Given the description of an element on the screen output the (x, y) to click on. 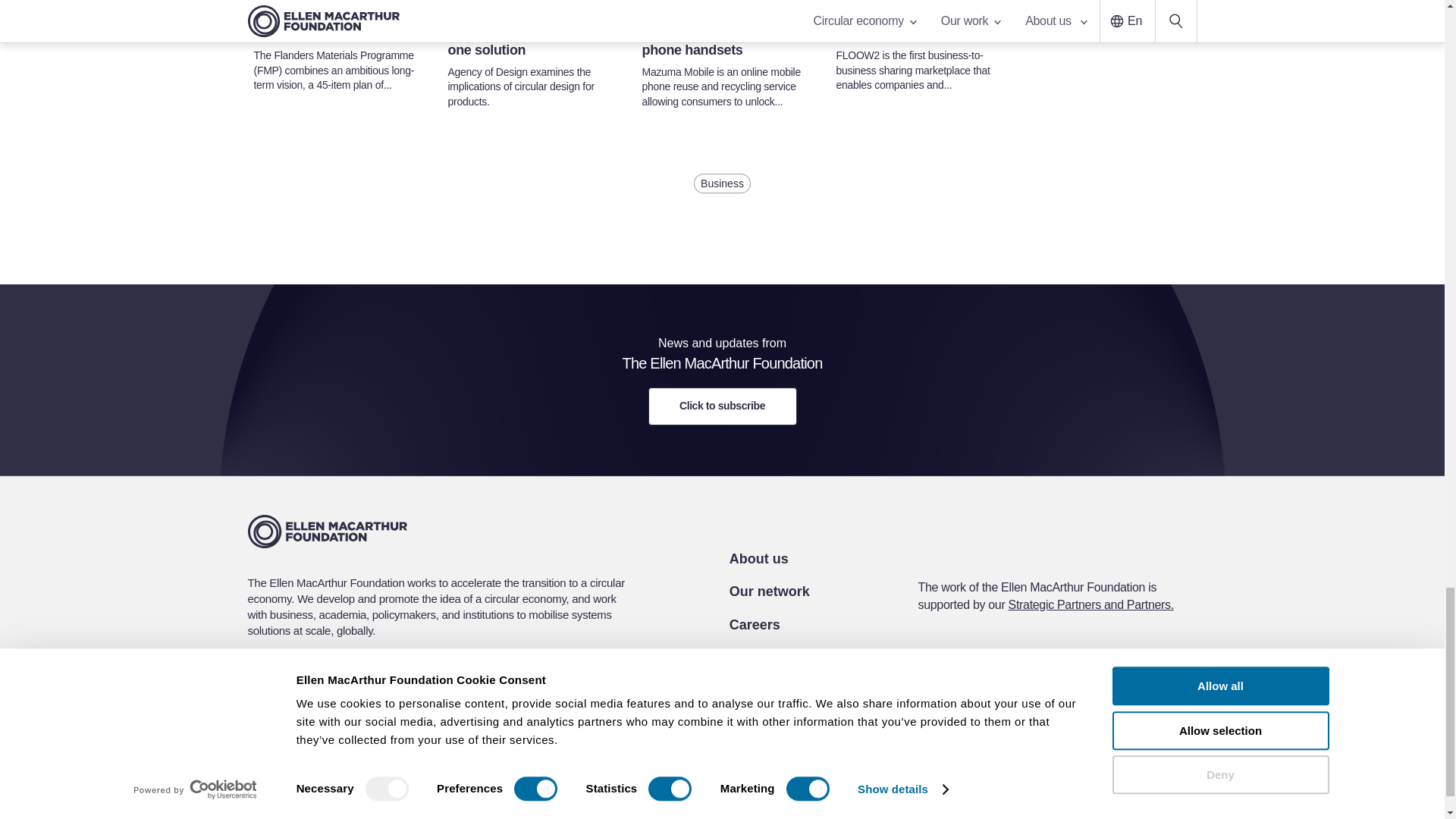
Link to EMF YouTube page. Opens in a new tab. (1041, 691)
Link to EMF TikTok page. Opens in a new tab. (1149, 690)
Link to EMF Facebook page. Opens in a new tab. (932, 691)
Link to EMF Twitter page. Opens in a new tab. (1004, 691)
Link to EMF Medium page. Opens in a new tab. (1114, 691)
Link to EMF LinkedIn page. Opens in a new tab. (968, 691)
Link to EMF Instagram page. Opens in a new tab. (1077, 691)
